Given the description of an element on the screen output the (x, y) to click on. 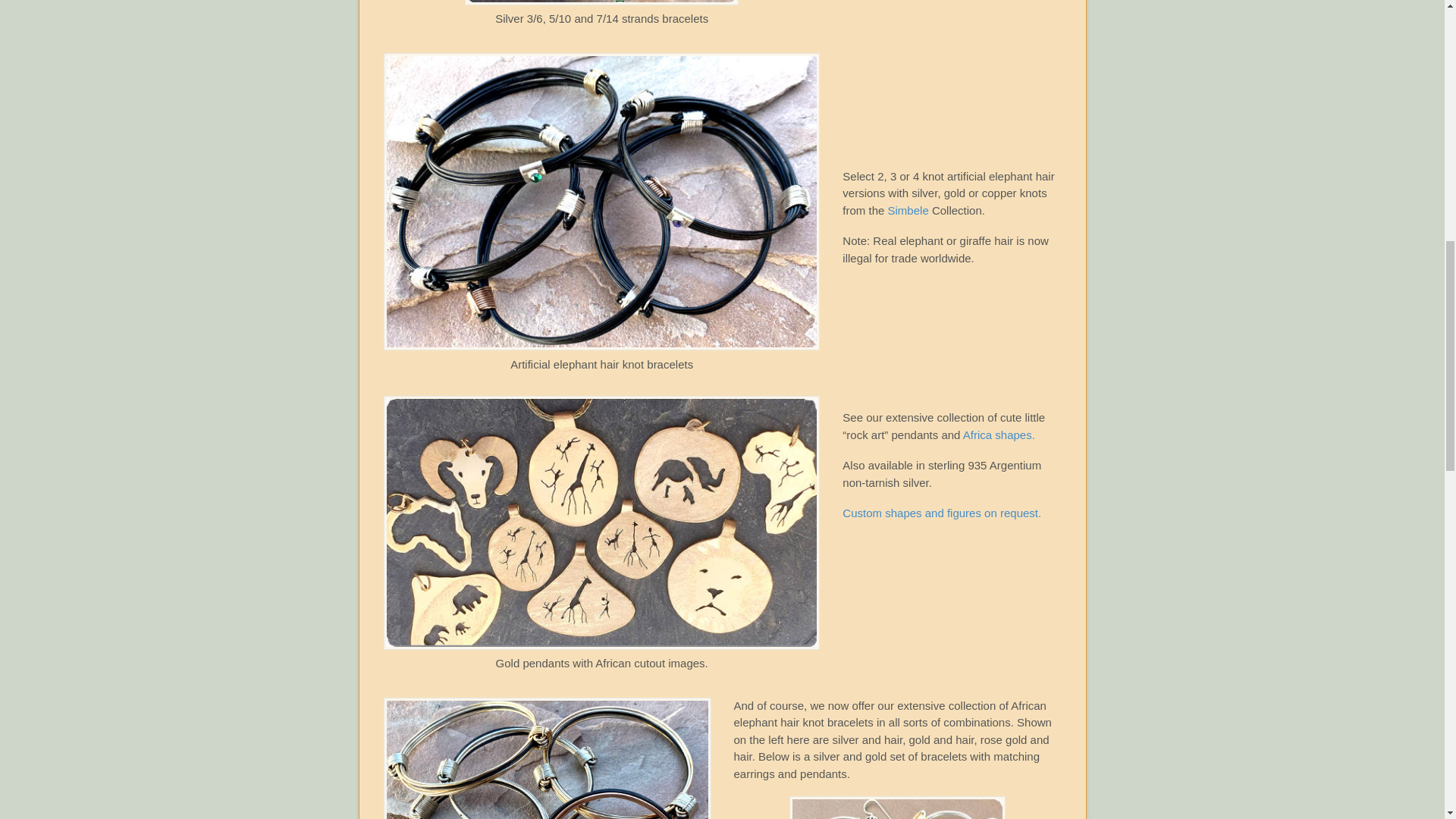
Custom shapes and figures on request. (942, 512)
Simbele (909, 210)
Africa shapes. (998, 434)
